Given the description of an element on the screen output the (x, y) to click on. 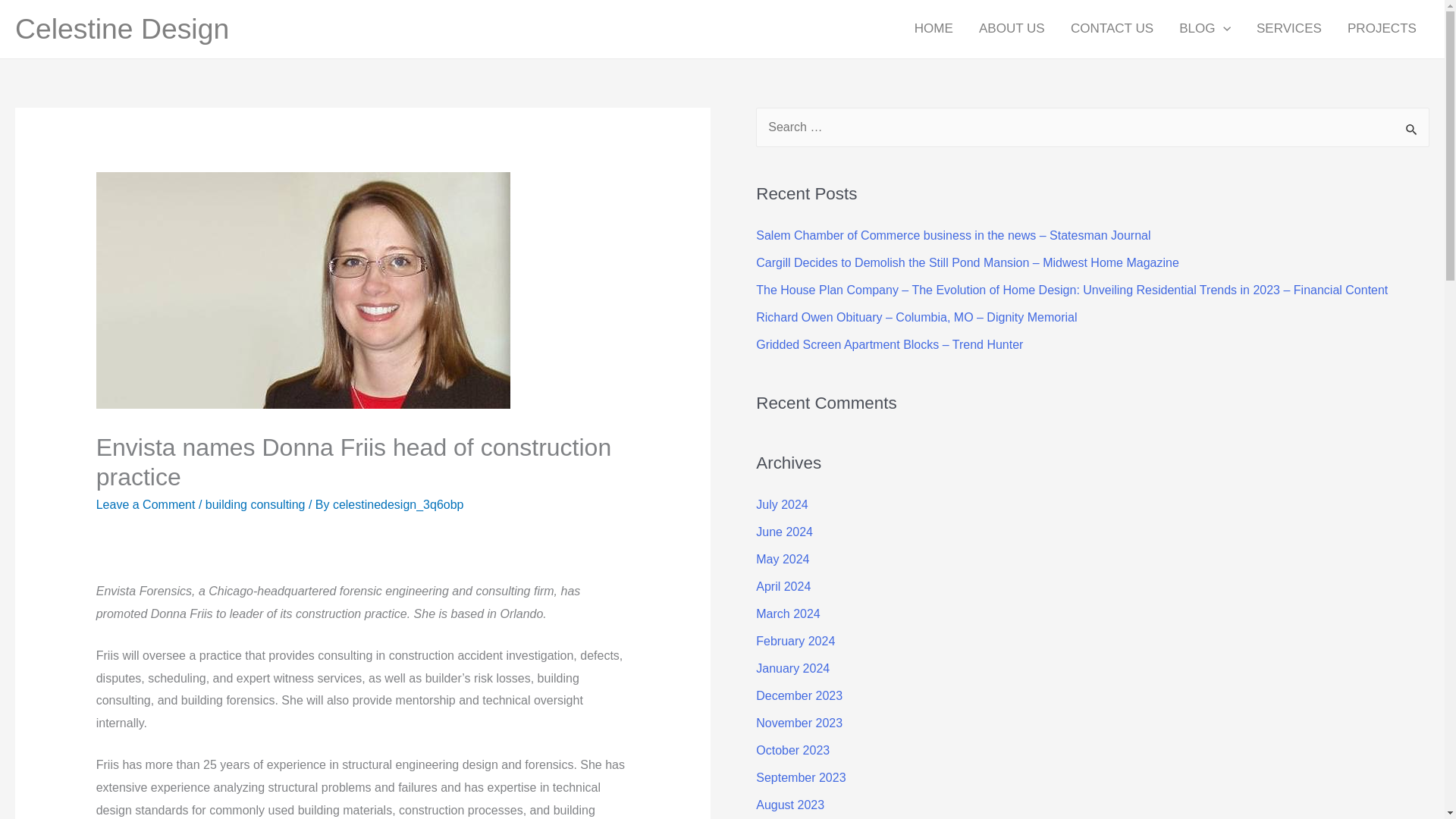
PROJECTS (1382, 28)
building consulting (255, 504)
CONTACT US (1112, 28)
ABOUT US (1012, 28)
BLOG (1204, 28)
SERVICES (1289, 28)
Leave a Comment (145, 504)
Celestine Design (121, 29)
HOME (933, 28)
